Given the description of an element on the screen output the (x, y) to click on. 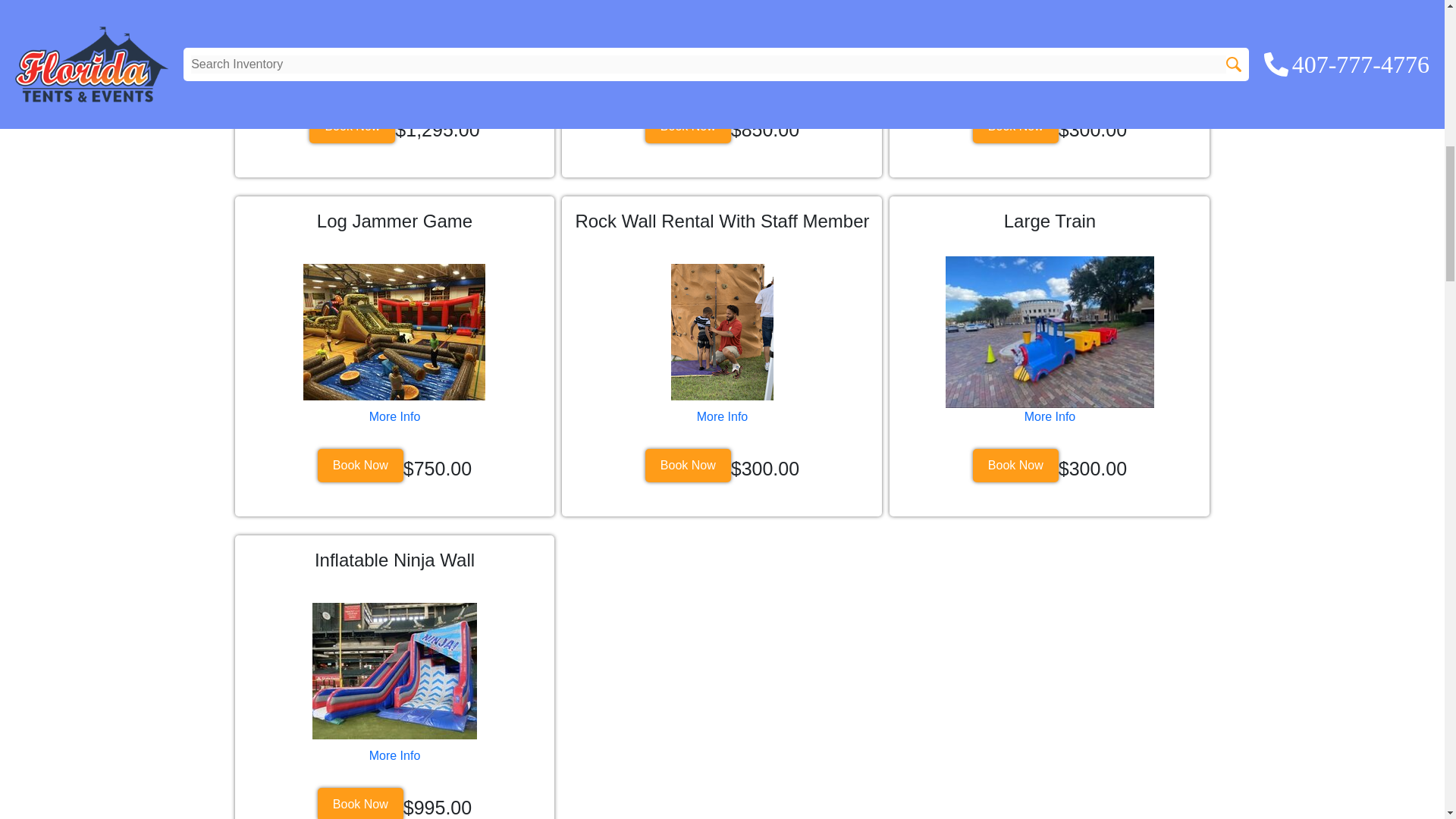
Book Now (360, 465)
More Info (722, 416)
More Info (722, 77)
Book Now (1015, 126)
More Info (394, 416)
Book Now (1015, 465)
More Info (1050, 77)
More Info (394, 755)
Book Now (351, 126)
More Info (1050, 416)
Book Now (687, 126)
Book Now (687, 465)
Book Now (360, 803)
More Info (394, 77)
